Given the description of an element on the screen output the (x, y) to click on. 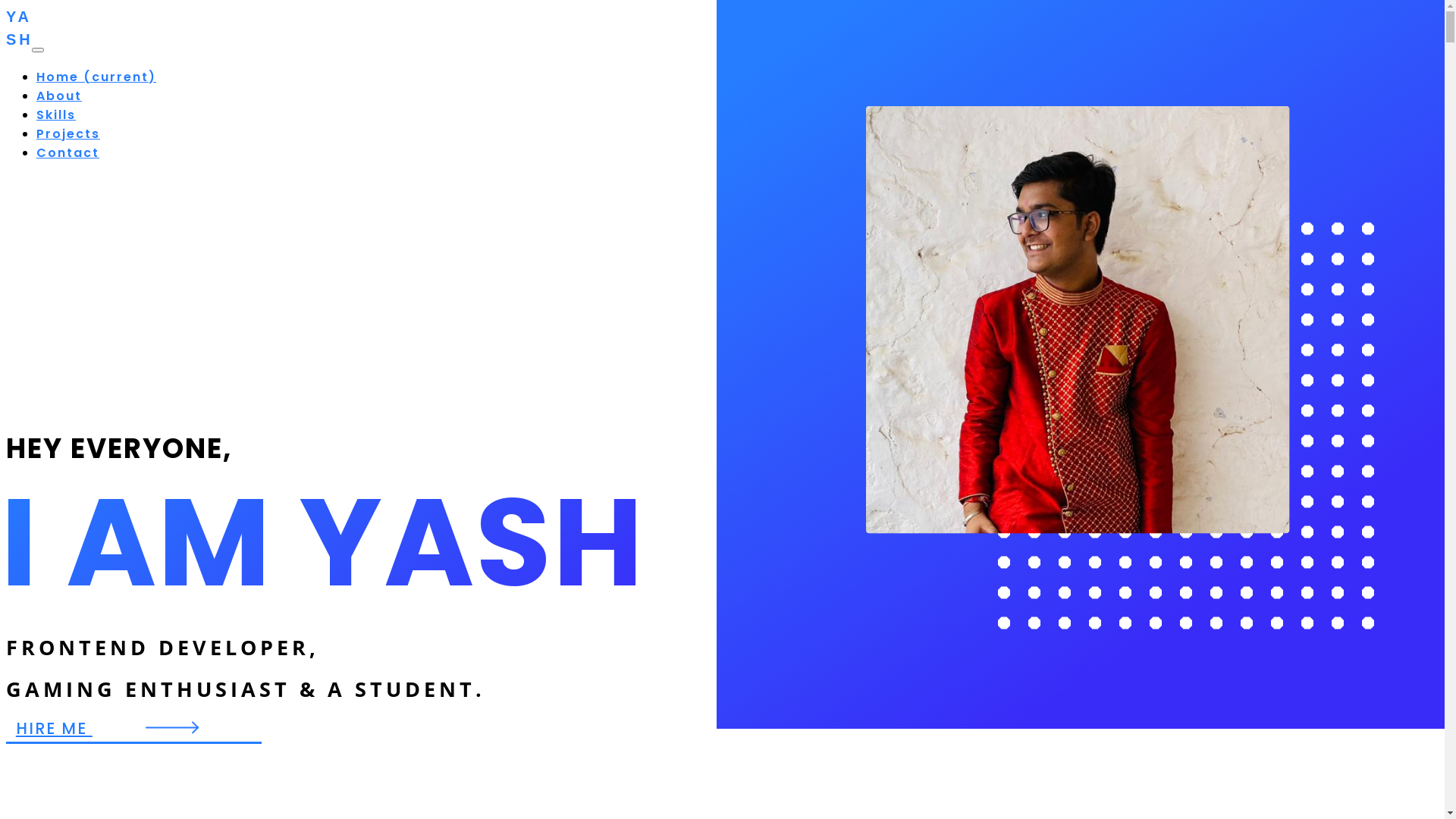
Home (current) Element type: text (96, 76)
Projects Element type: text (68, 133)
HIRE ME Element type: text (133, 728)
Contact Element type: text (67, 152)
Skills Element type: text (55, 114)
About Element type: text (58, 95)
